Given the description of an element on the screen output the (x, y) to click on. 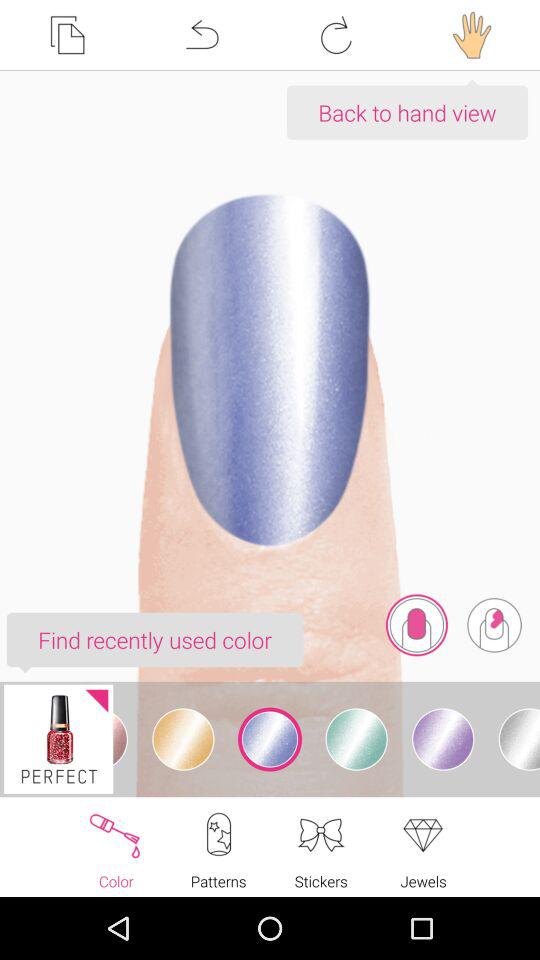
select the icon at the top left corner (67, 35)
